Given the description of an element on the screen output the (x, y) to click on. 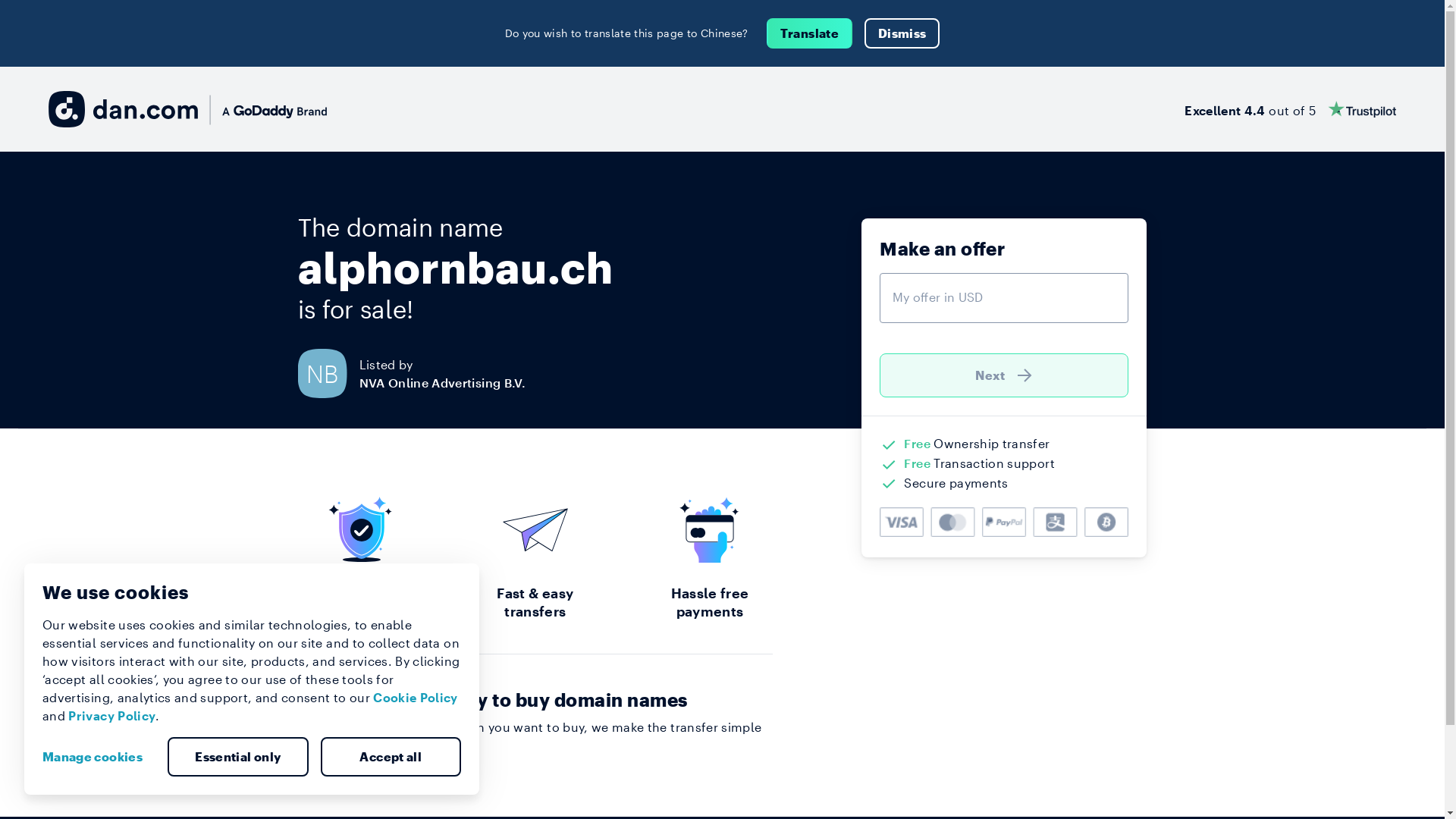
Essential only Element type: text (237, 756)
Cookie Policy Element type: text (415, 697)
Dismiss Element type: text (901, 33)
Accept all Element type: text (390, 756)
Privacy Policy Element type: text (111, 715)
Next
) Element type: text (1003, 375)
Manage cookies Element type: text (98, 756)
Translate Element type: text (809, 33)
Excellent 4.4 out of 5 Element type: text (1290, 109)
